Given the description of an element on the screen output the (x, y) to click on. 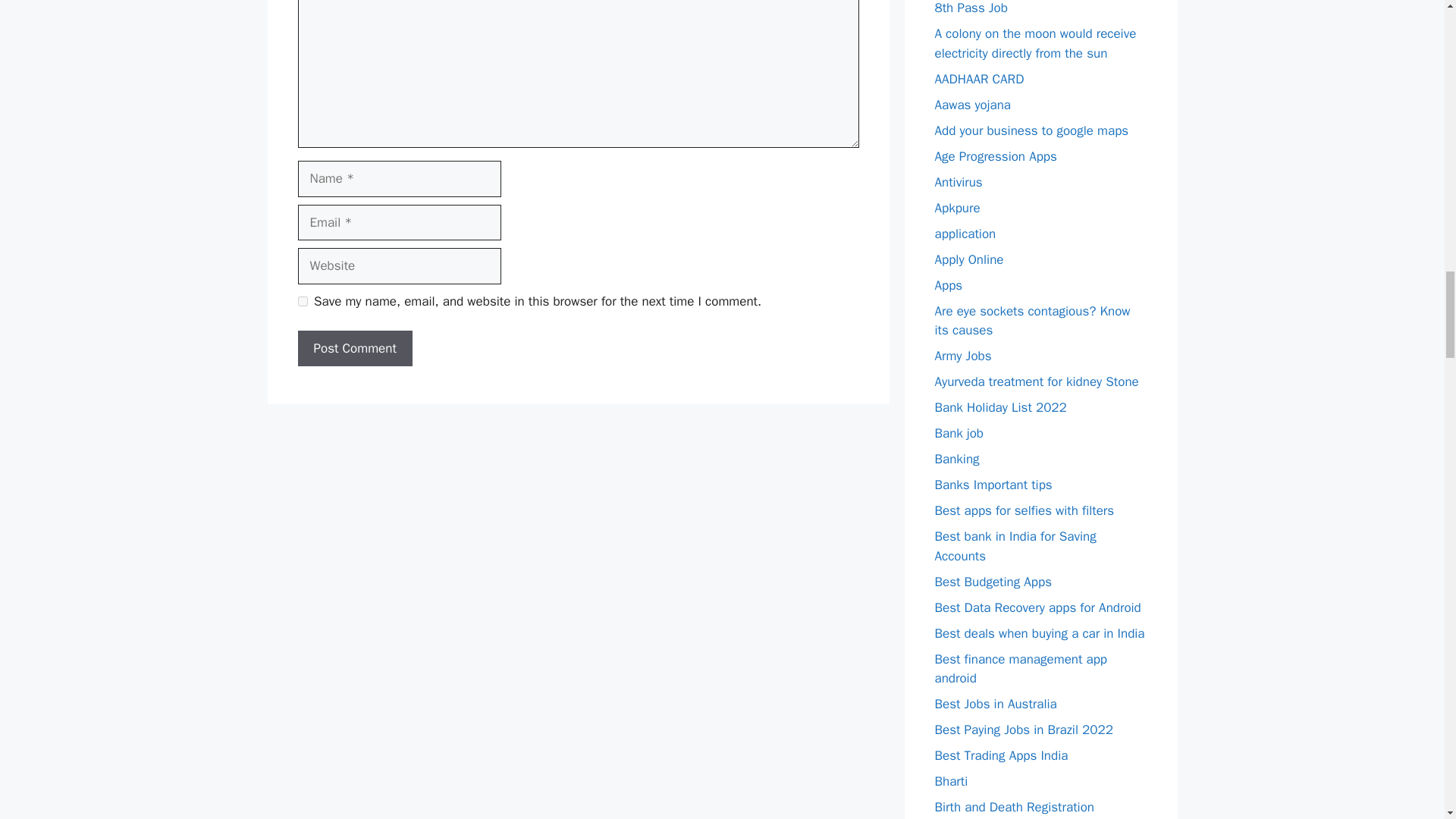
Post Comment (354, 348)
Post Comment (354, 348)
yes (302, 301)
